Given the description of an element on the screen output the (x, y) to click on. 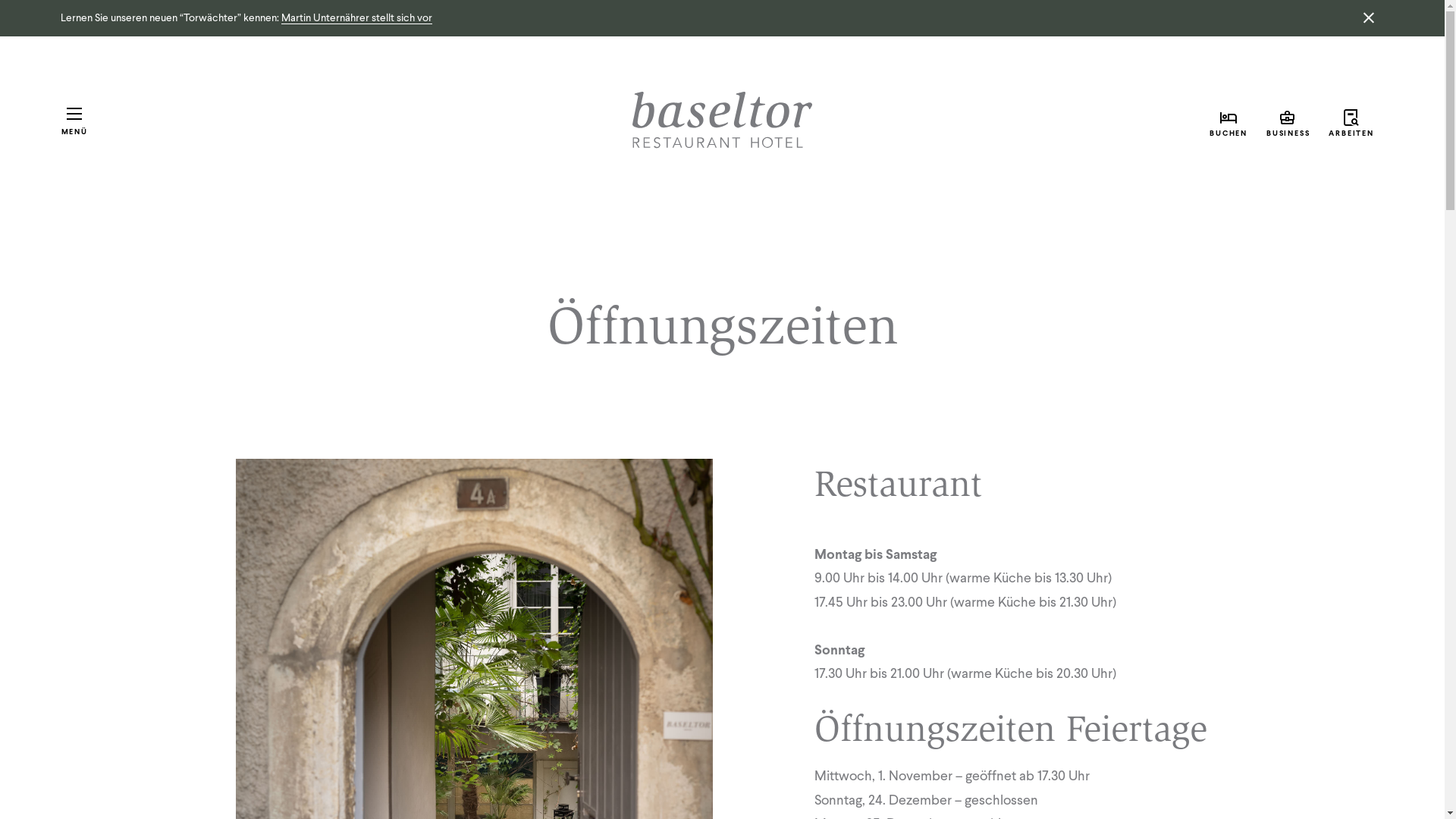
BUSINESS Element type: text (1288, 121)
ARBEITEN Element type: text (1351, 121)
BUCHEN Element type: text (1228, 121)
